Given the description of an element on the screen output the (x, y) to click on. 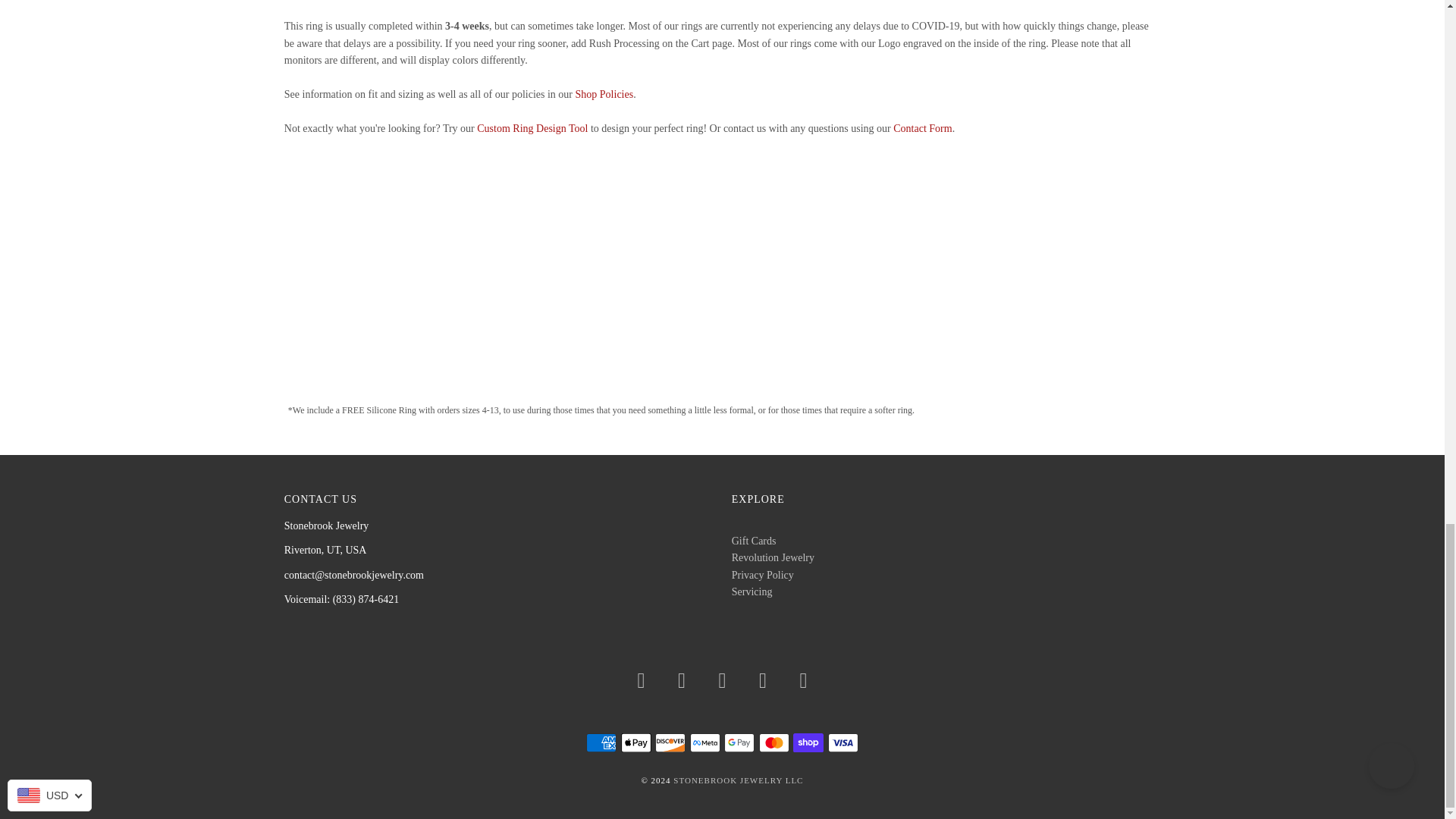
Meta Pay (705, 742)
Apple Pay (635, 742)
Discover (670, 742)
Shop Pay (808, 742)
Google Pay (738, 742)
Visa (843, 742)
Mastercard (773, 742)
American Express (600, 742)
